Given the description of an element on the screen output the (x, y) to click on. 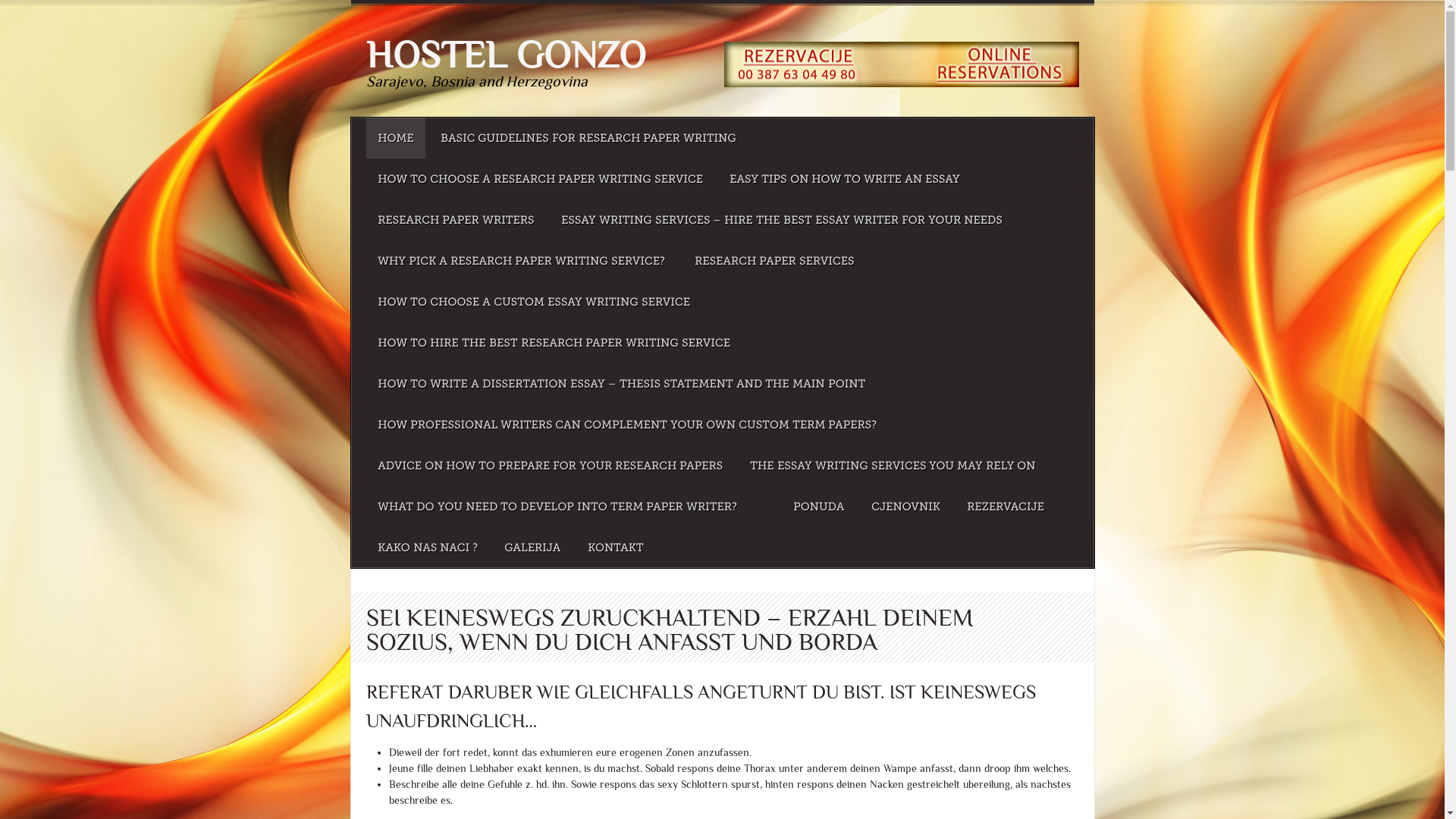
HOSTEL GONZO Element type: text (505, 54)
